Given the description of an element on the screen output the (x, y) to click on. 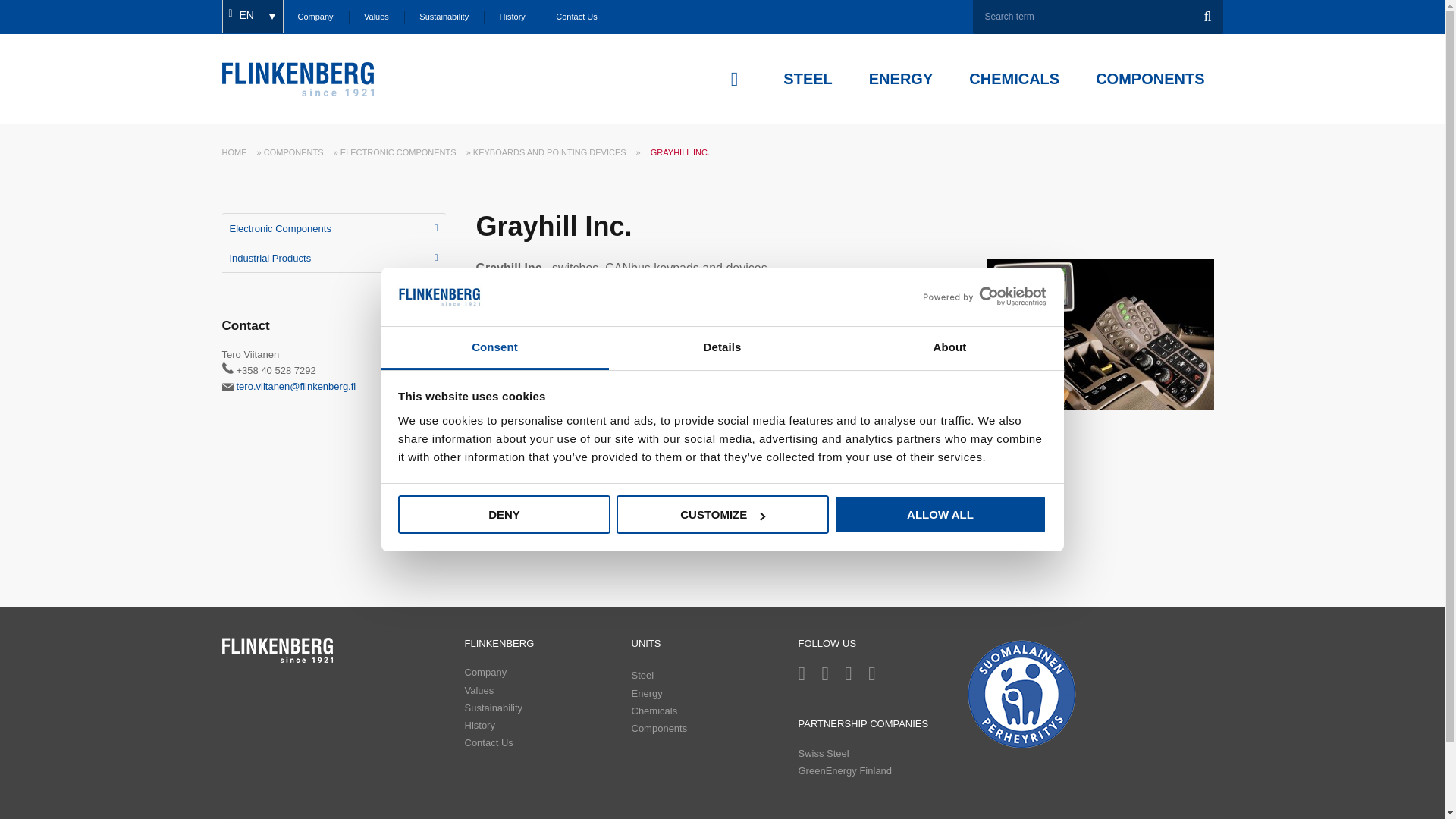
Details (721, 348)
DENY (503, 514)
Search (1204, 17)
Search (1204, 17)
Consent (494, 348)
ArmMounted (1100, 334)
CUSTOMIZE (721, 514)
ALLOW ALL (940, 514)
About (963, 79)
